Given the description of an element on the screen output the (x, y) to click on. 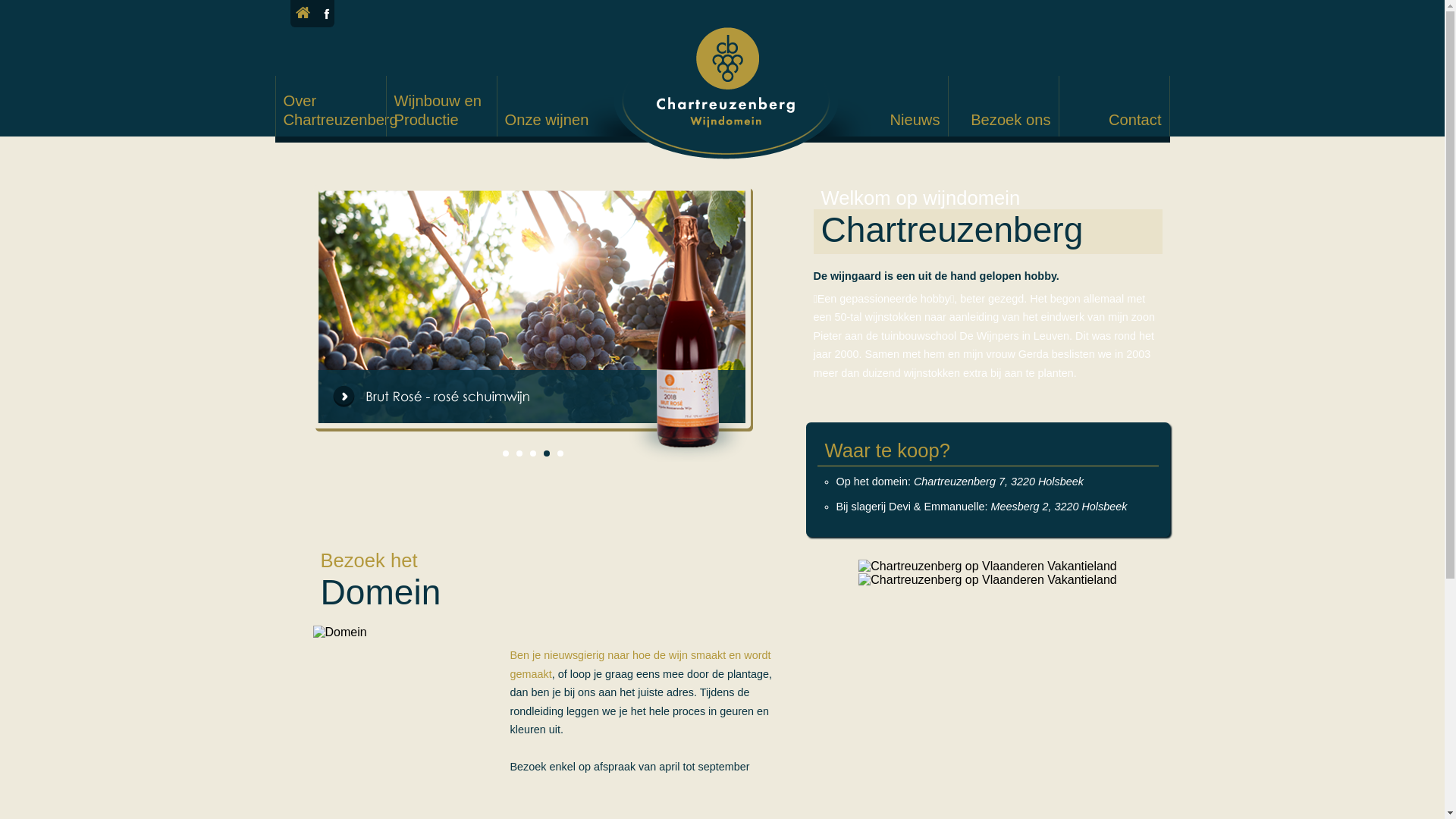
Contact Element type: text (1113, 119)
Onze wijnen Element type: text (547, 119)
Bezoek ons Element type: text (1002, 119)
1 Element type: text (505, 453)
Nieuws Element type: text (891, 119)
2 Element type: text (518, 453)
Over Chartreuzenberg Element type: text (340, 109)
Wijnbouw en Productie Element type: text (445, 109)
3 Element type: text (532, 453)
5 Element type: text (559, 453)
4 Element type: text (545, 453)
